Given the description of an element on the screen output the (x, y) to click on. 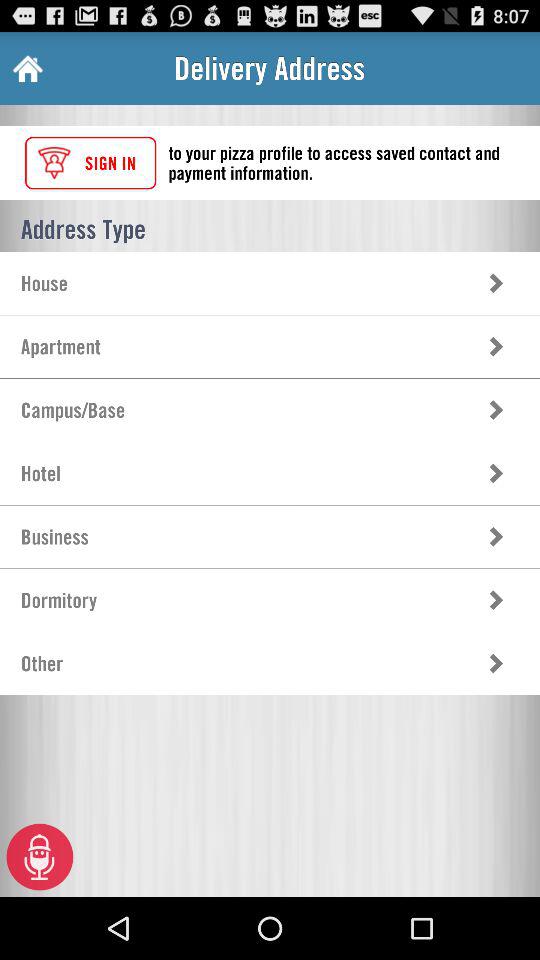
choose the item below the other item (40, 856)
